Given the description of an element on the screen output the (x, y) to click on. 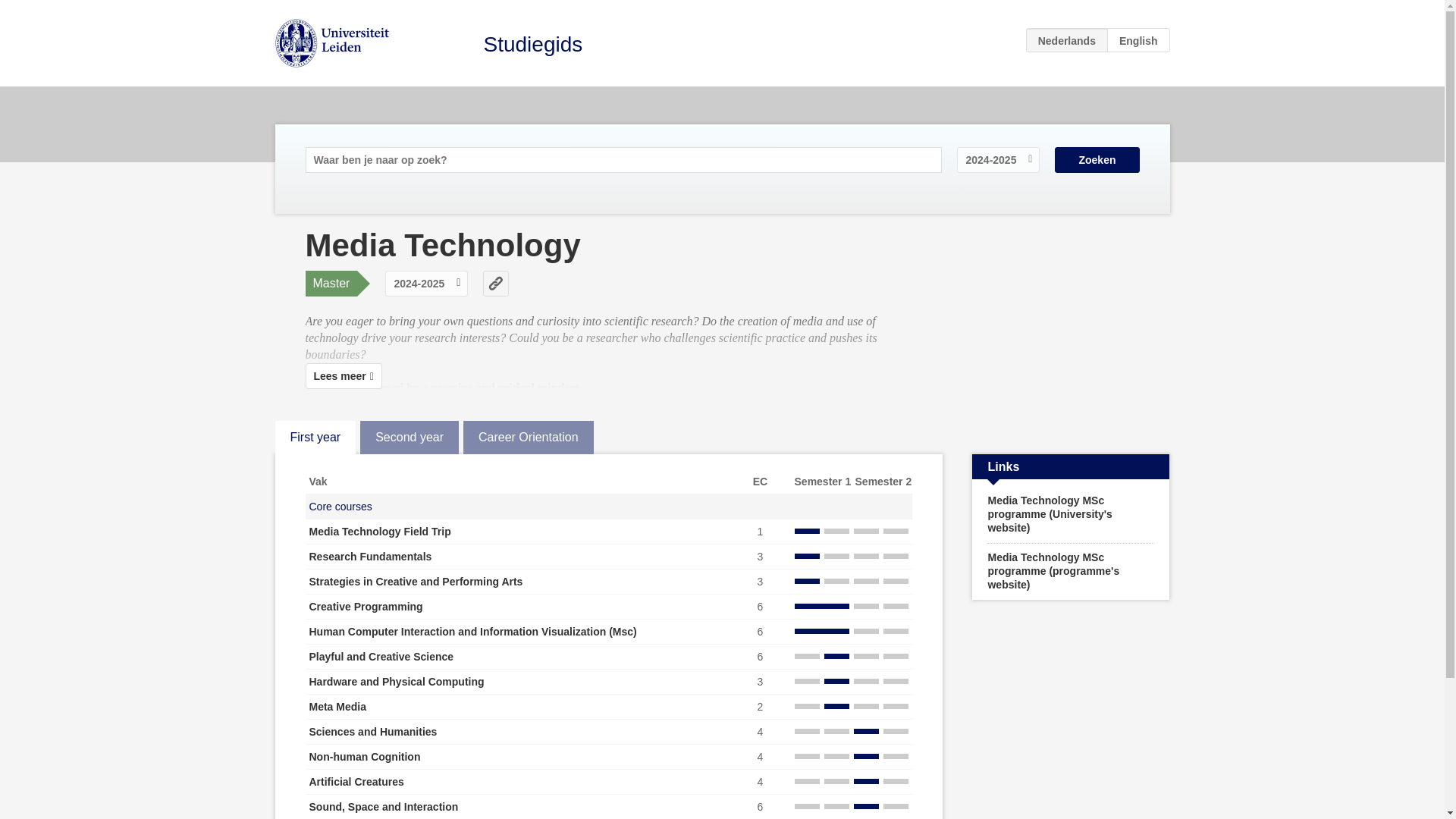
Artificial Creatures (356, 781)
Studiegids (533, 44)
Sciences and Humanities (373, 731)
Non-human Cognition (364, 756)
Career Orientation (528, 437)
Sound, Space and Interaction (383, 806)
Hardware and Physical Computing (396, 681)
Zoeken (1096, 159)
First year (315, 437)
Research Fundamentals (370, 556)
Playful and Creative Science (381, 656)
Second year (408, 437)
Meta Media (337, 706)
Lees meer (342, 376)
EN (1138, 39)
